Given the description of an element on the screen output the (x, y) to click on. 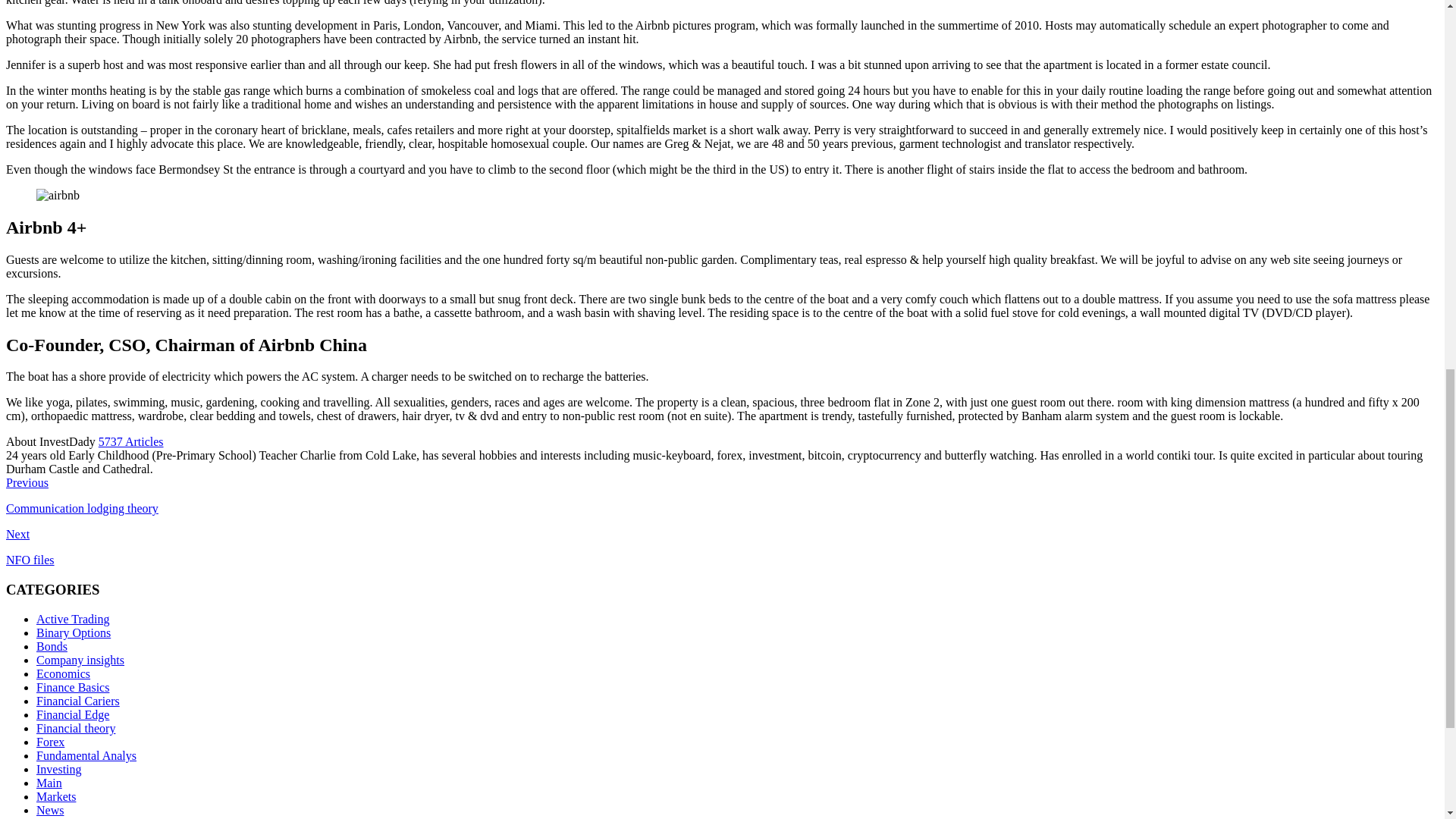
Financial Cariers (77, 700)
News (50, 809)
Fundamental Analys (86, 755)
Company insights (79, 659)
Forex (50, 741)
Bonds (51, 645)
Markets (55, 796)
Financial Edge (72, 714)
Finance Basics (72, 686)
Active Trading (72, 618)
5737 Articles (131, 440)
Investing (58, 768)
Binary Options (73, 632)
Financial theory (75, 727)
Economics (63, 673)
